Given the description of an element on the screen output the (x, y) to click on. 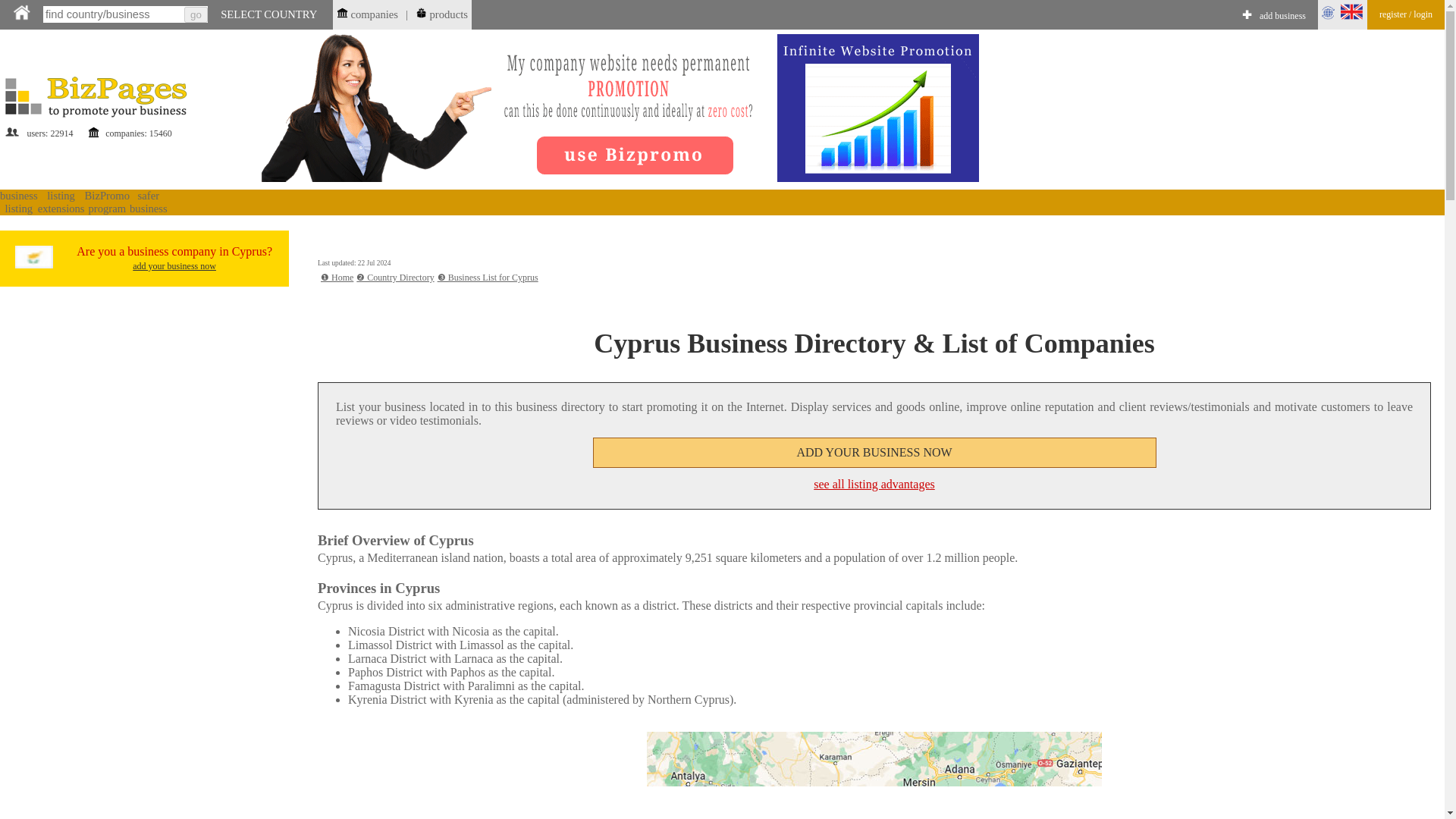
add business (1282, 16)
SELECT COUNTRY (269, 14)
business listing (18, 201)
home (20, 12)
go (196, 14)
safer business (148, 201)
BizPromo program (106, 201)
listing extensions (60, 201)
